Given the description of an element on the screen output the (x, y) to click on. 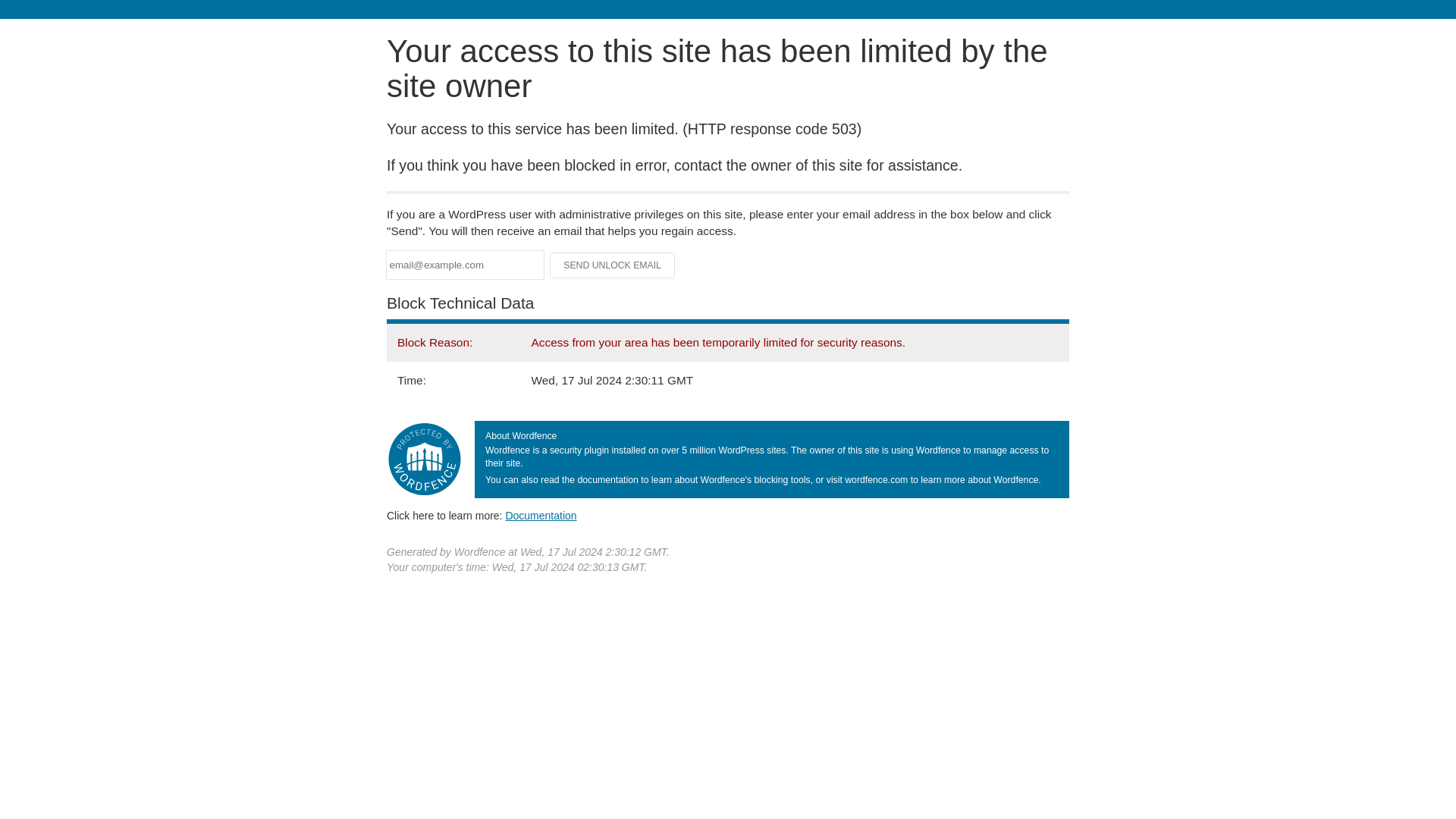
Send Unlock Email (612, 265)
Documentation (540, 515)
Send Unlock Email (612, 265)
